Given the description of an element on the screen output the (x, y) to click on. 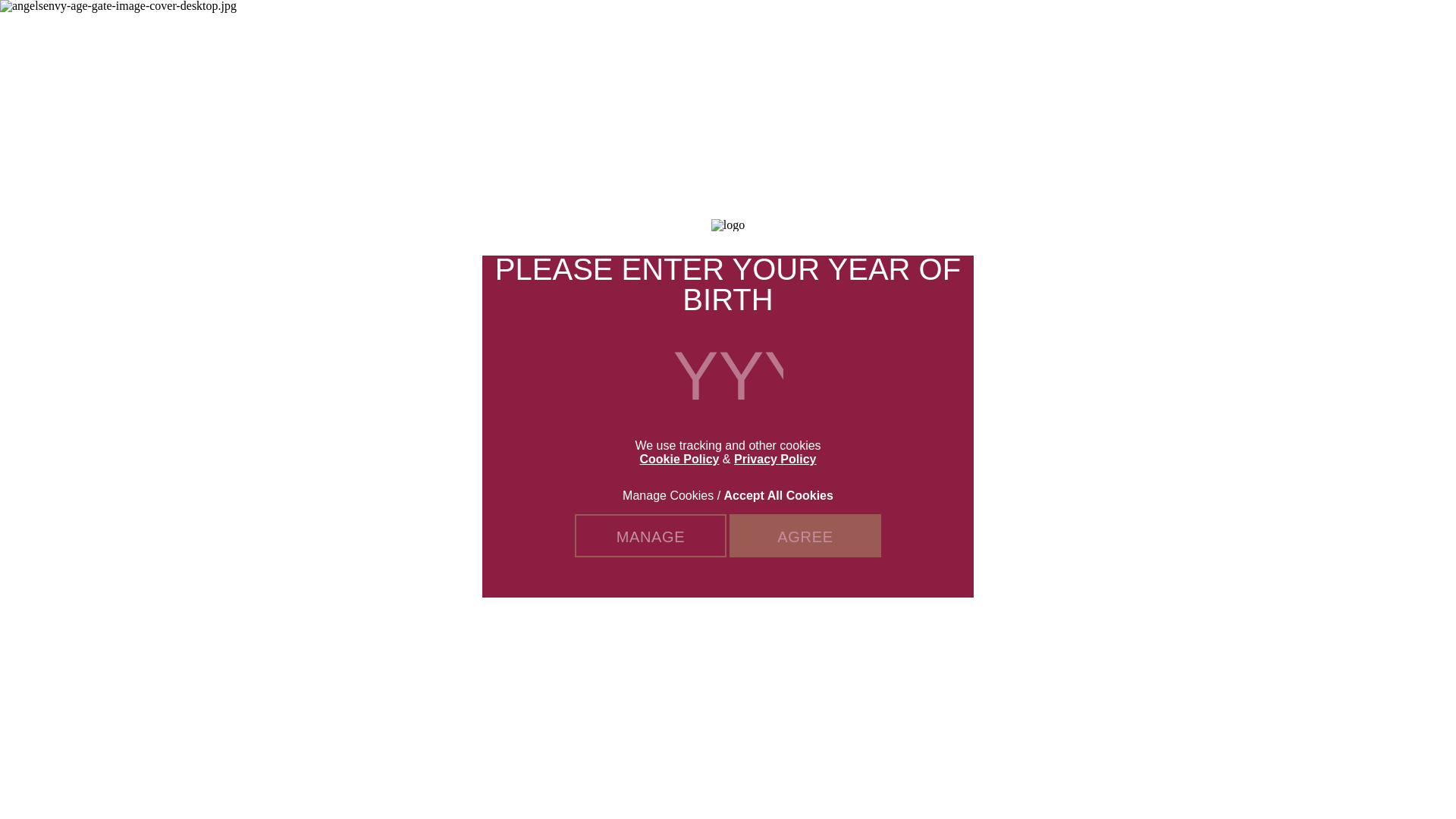
GIFT CARD (1022, 29)
MANAGE BOOKING (1109, 29)
OUR WHISKEY (583, 29)
THE GUIDE (910, 29)
SHOP (966, 29)
OUR STORY (781, 29)
VISIT US (1308, 29)
Cookies Settings (33, 792)
RECIPES (848, 29)
500 MAIN (1211, 29)
OUR DISTILLERY (685, 29)
